Given the description of an element on the screen output the (x, y) to click on. 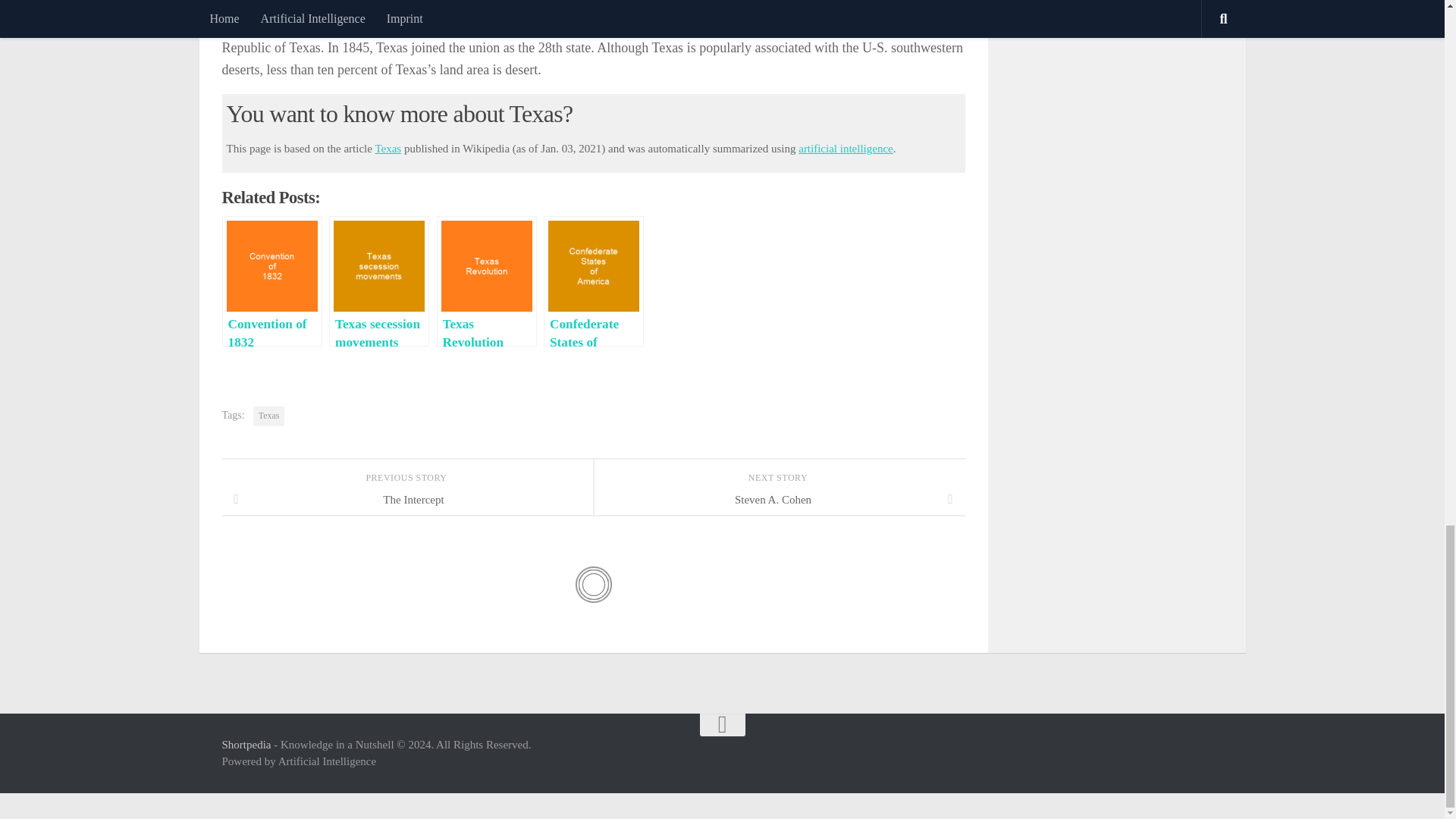
artificial intelligence (845, 148)
Texas (269, 415)
Texas (387, 148)
Steven A. Cohen (777, 499)
The Intercept (406, 499)
